Given the description of an element on the screen output the (x, y) to click on. 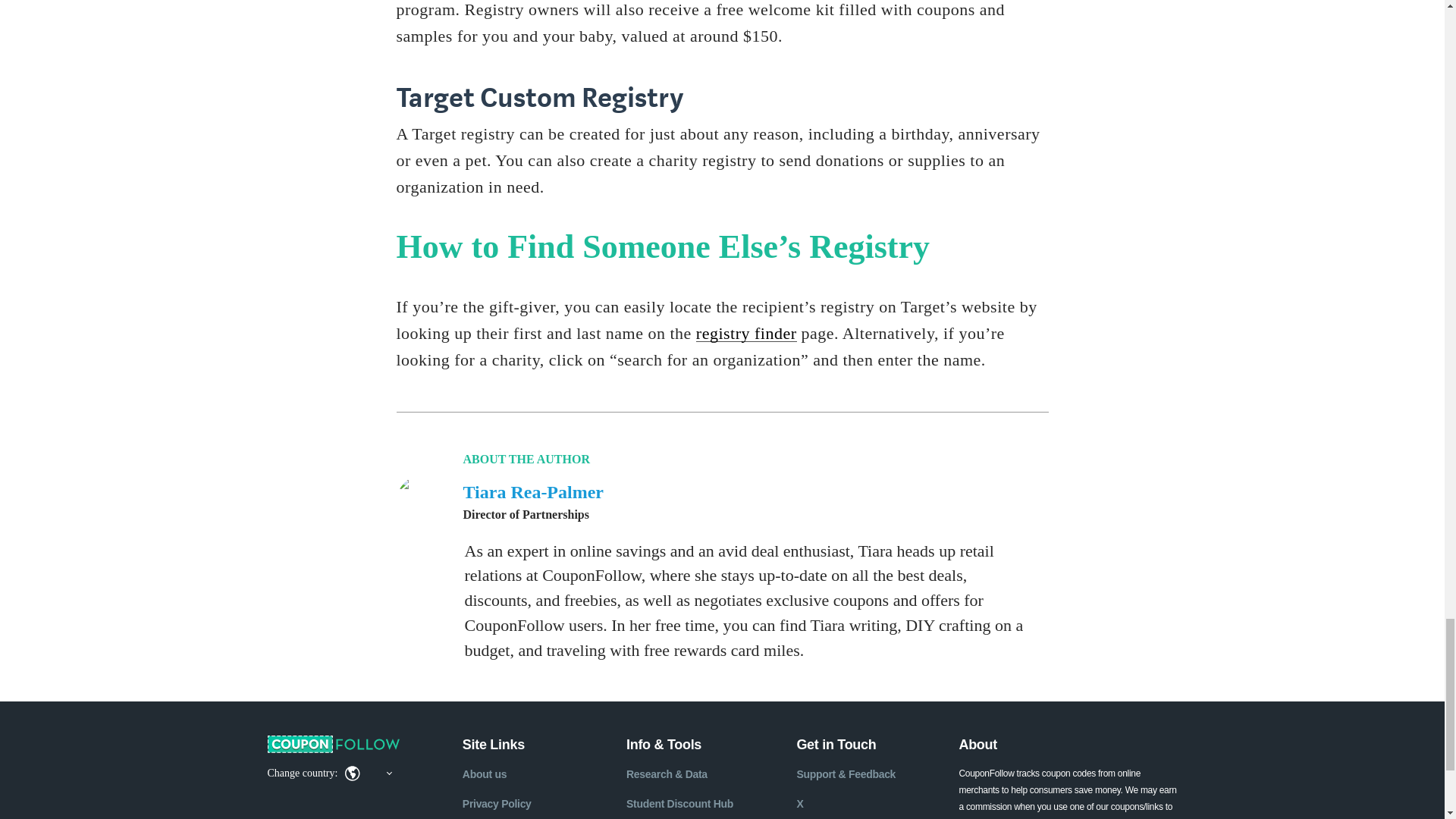
registry finder (745, 333)
About us (484, 774)
Privacy Policy (497, 803)
Tiara Rea-Palmer (533, 492)
